Given the description of an element on the screen output the (x, y) to click on. 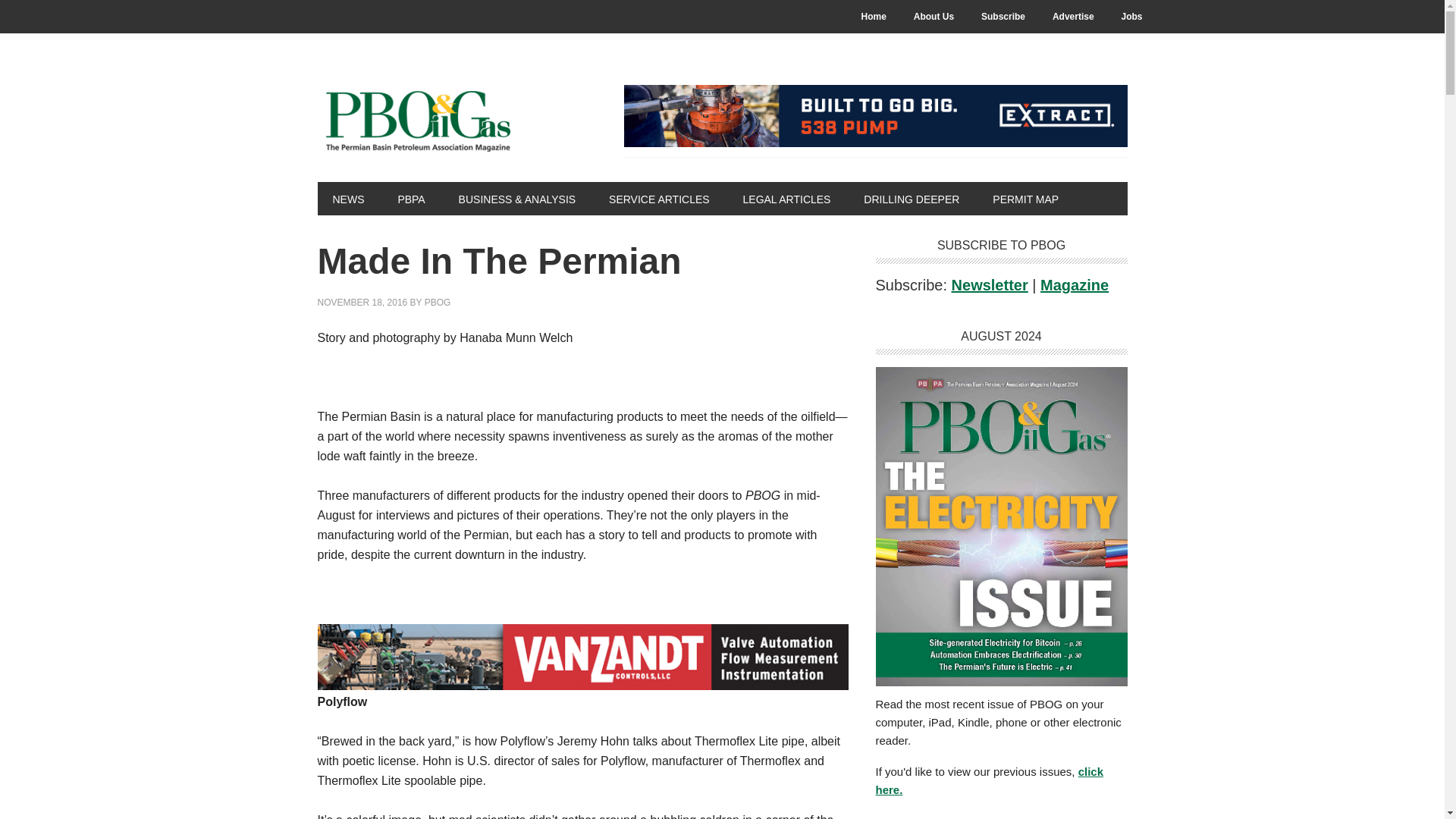
PBOG (438, 302)
DRILLING DEEPER (911, 198)
PERMIT MAP (1025, 198)
Advertise (1073, 16)
Home Button (873, 16)
PBPA (410, 198)
About Us (933, 16)
Subscribe (1002, 16)
NEWS (347, 198)
SERVICE ARTICLES (659, 198)
